Given the description of an element on the screen output the (x, y) to click on. 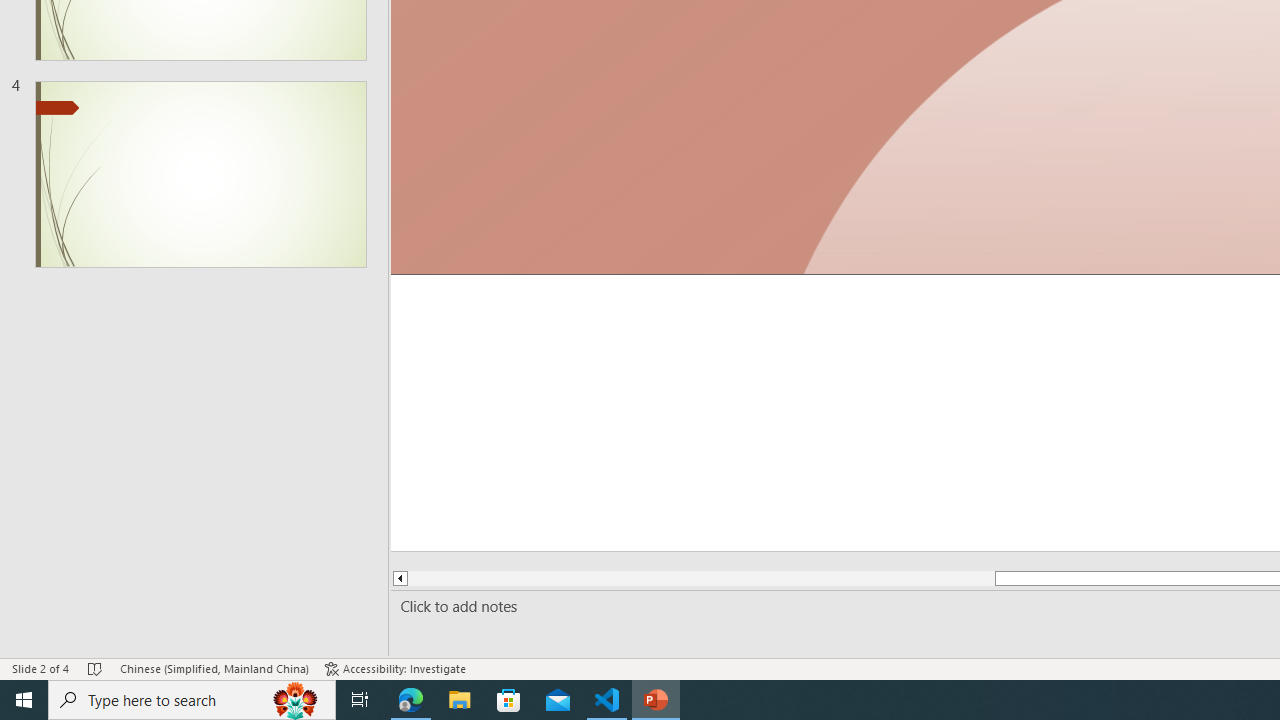
Slide (200, 174)
Accessibility Checker Accessibility: Investigate (395, 668)
Spell Check No Errors (95, 668)
